Given the description of an element on the screen output the (x, y) to click on. 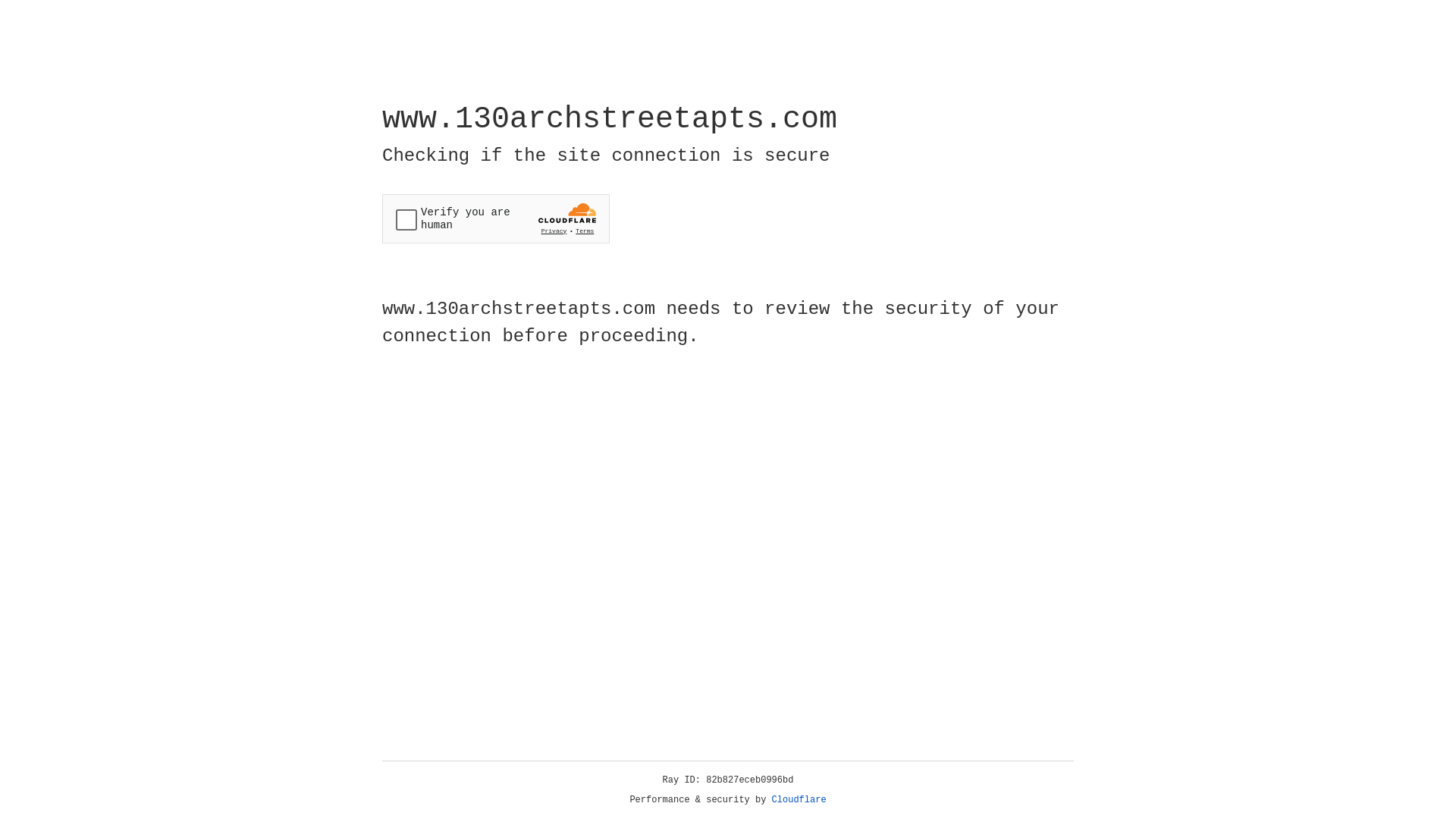
Cloudflare Element type: text (798, 799)
Widget containing a Cloudflare security challenge Element type: hover (495, 218)
